Given the description of an element on the screen output the (x, y) to click on. 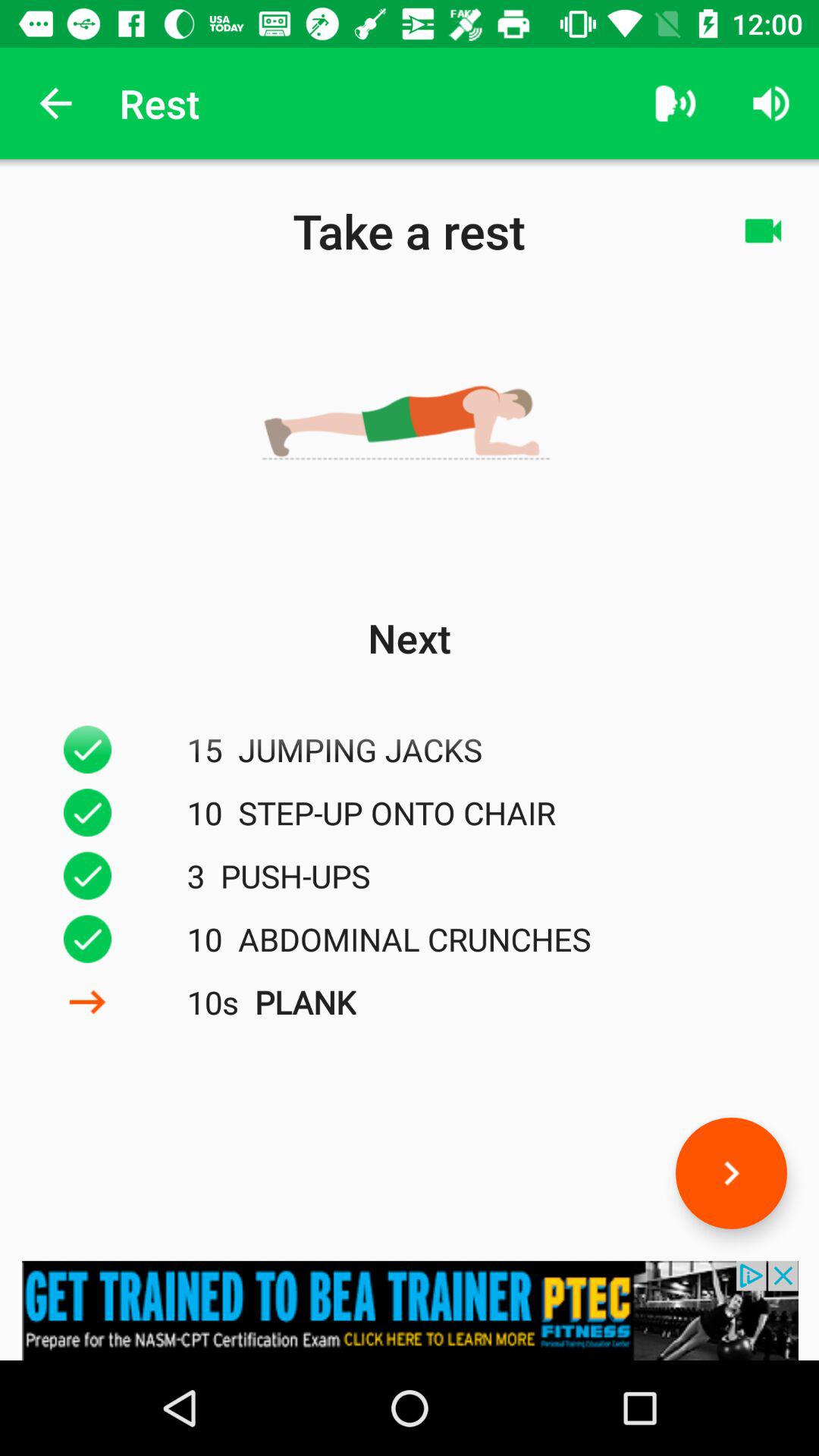
record video (763, 230)
